Given the description of an element on the screen output the (x, y) to click on. 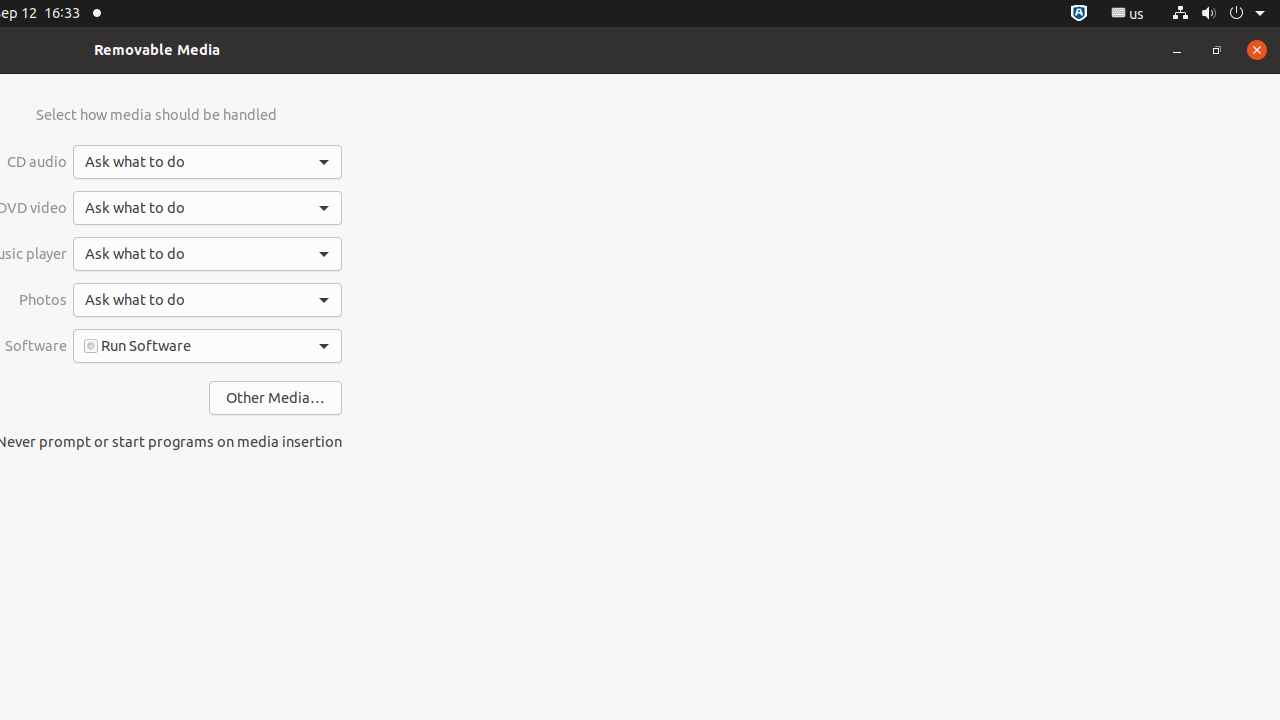
Select how media should be handled Element type: label (156, 114)
Removable Media Element type: label (157, 49)
Minimize Element type: push-button (1177, 50)
cc-item-ask Element type: combo-box (207, 162)
